Given the description of an element on the screen output the (x, y) to click on. 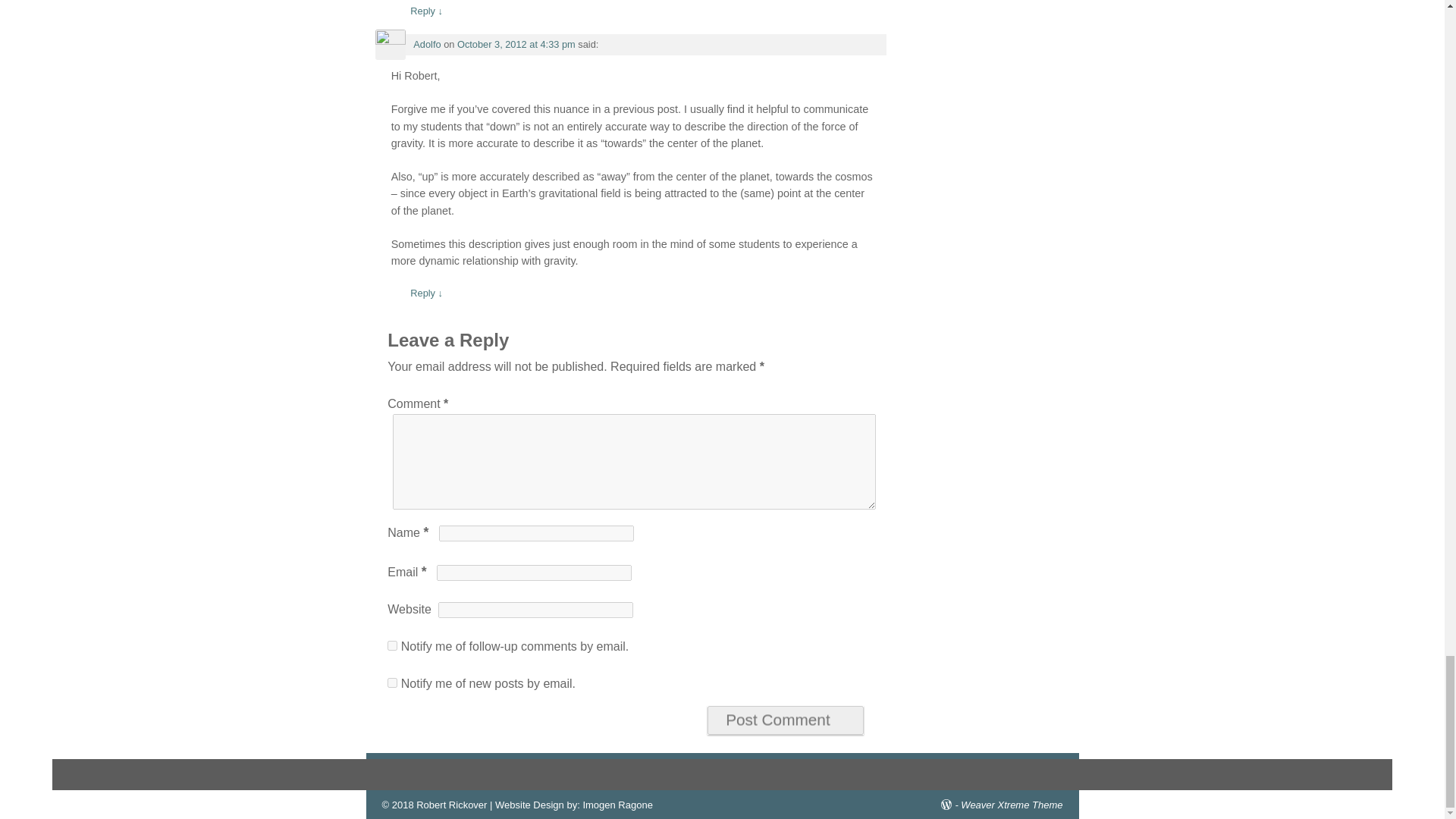
subscribe (392, 645)
Post Comment (785, 719)
Proudly powered by WordPress (950, 804)
subscribe (392, 682)
